Given the description of an element on the screen output the (x, y) to click on. 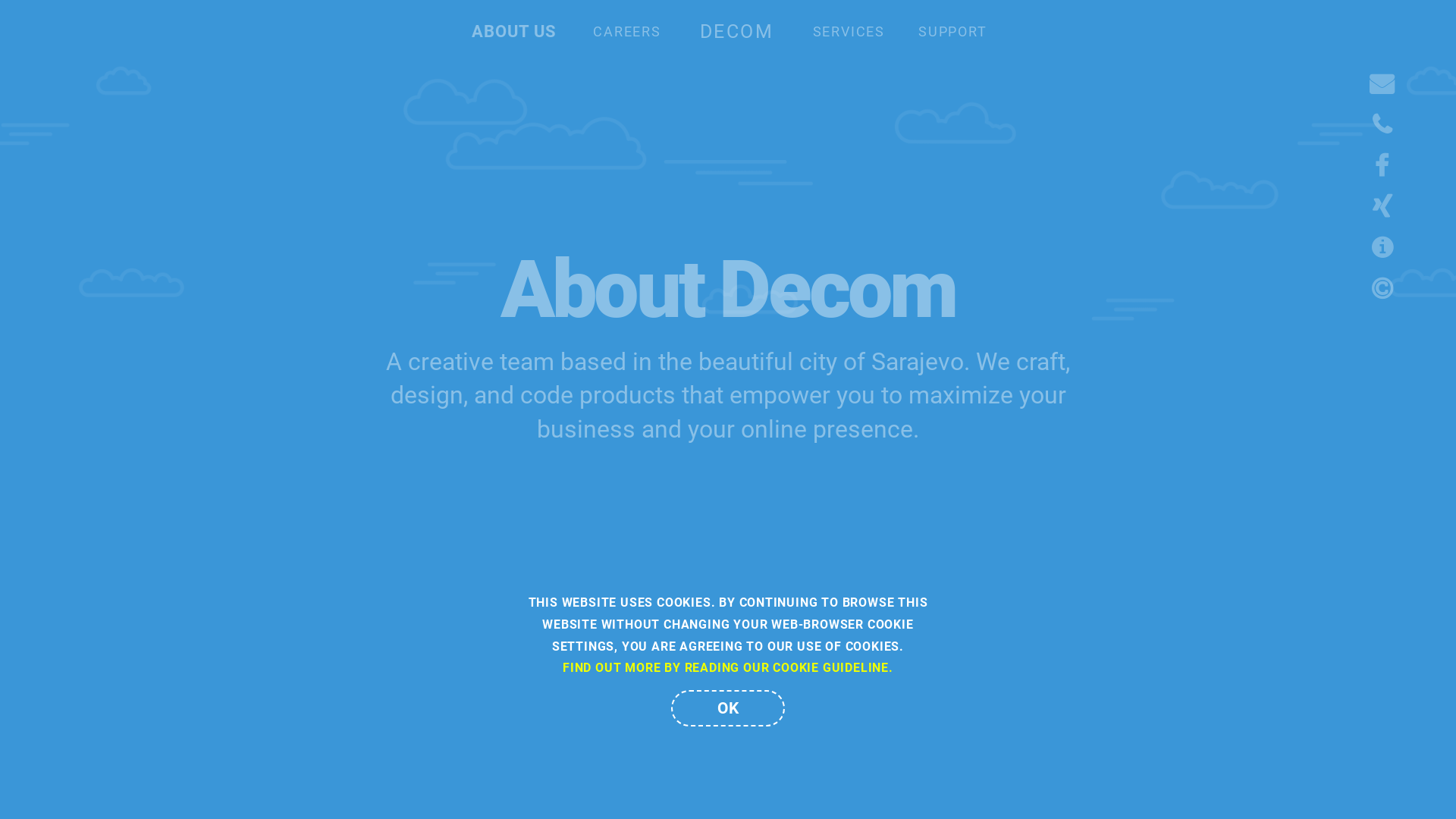
OK Element type: text (727, 708)
ABOUT US Element type: text (513, 31)
SUPPORT Element type: text (952, 31)
DECOM Element type: text (736, 31)
Skip to content Element type: text (0, 0)
FIND OUT MORE BY READING OUR COOKIE GUIDELINE. Element type: text (727, 667)
SERVICES Element type: text (848, 31)
CAREERS Element type: text (626, 31)
